Given the description of an element on the screen output the (x, y) to click on. 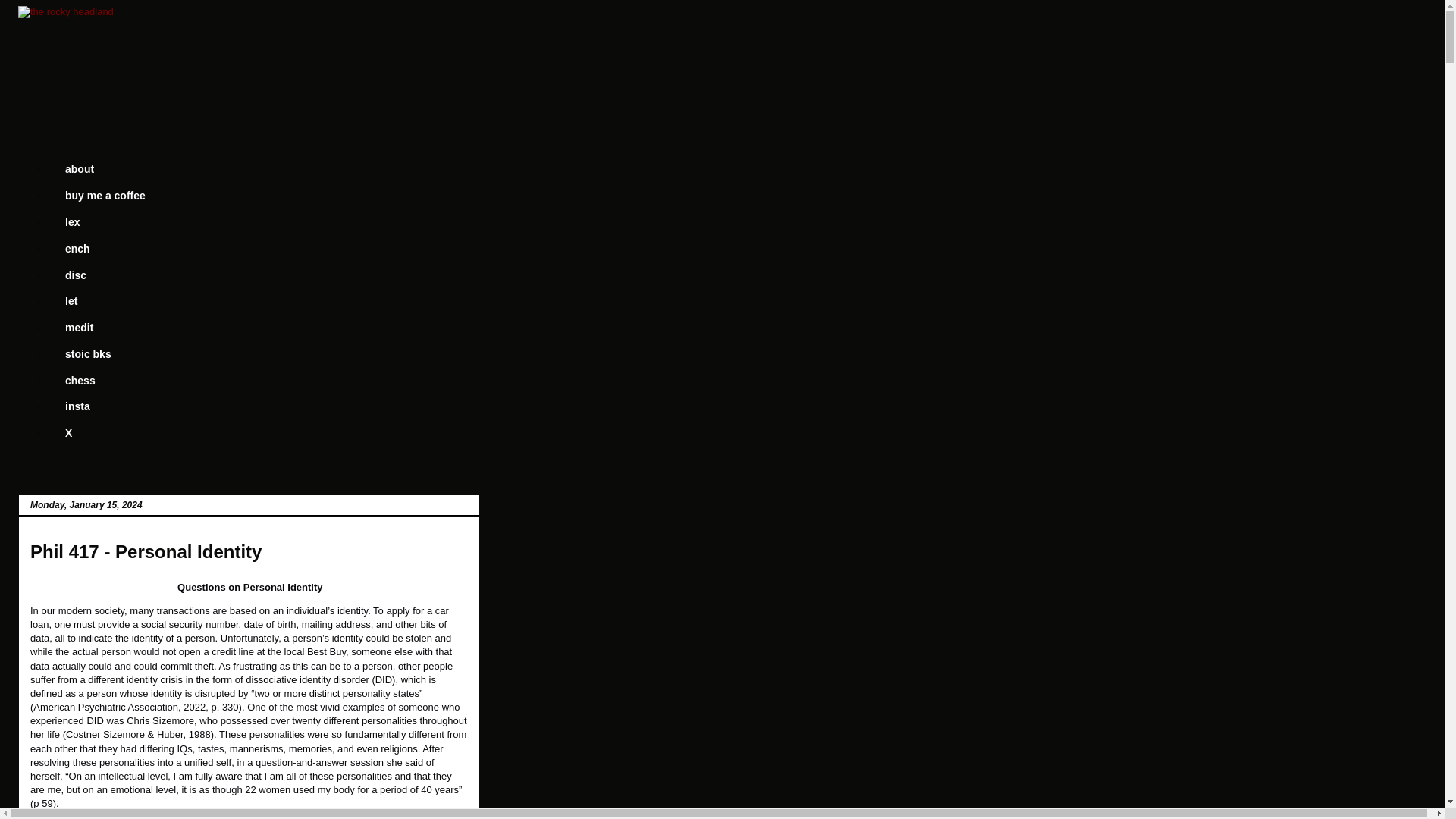
insta (77, 406)
X (68, 433)
medit (78, 327)
chess (80, 379)
buy me a coffee (104, 195)
stoic bks (88, 353)
Phil 417 - Personal Identity (146, 551)
lex (72, 222)
disc (74, 274)
ench (77, 248)
let (70, 301)
about (79, 169)
